Given the description of an element on the screen output the (x, y) to click on. 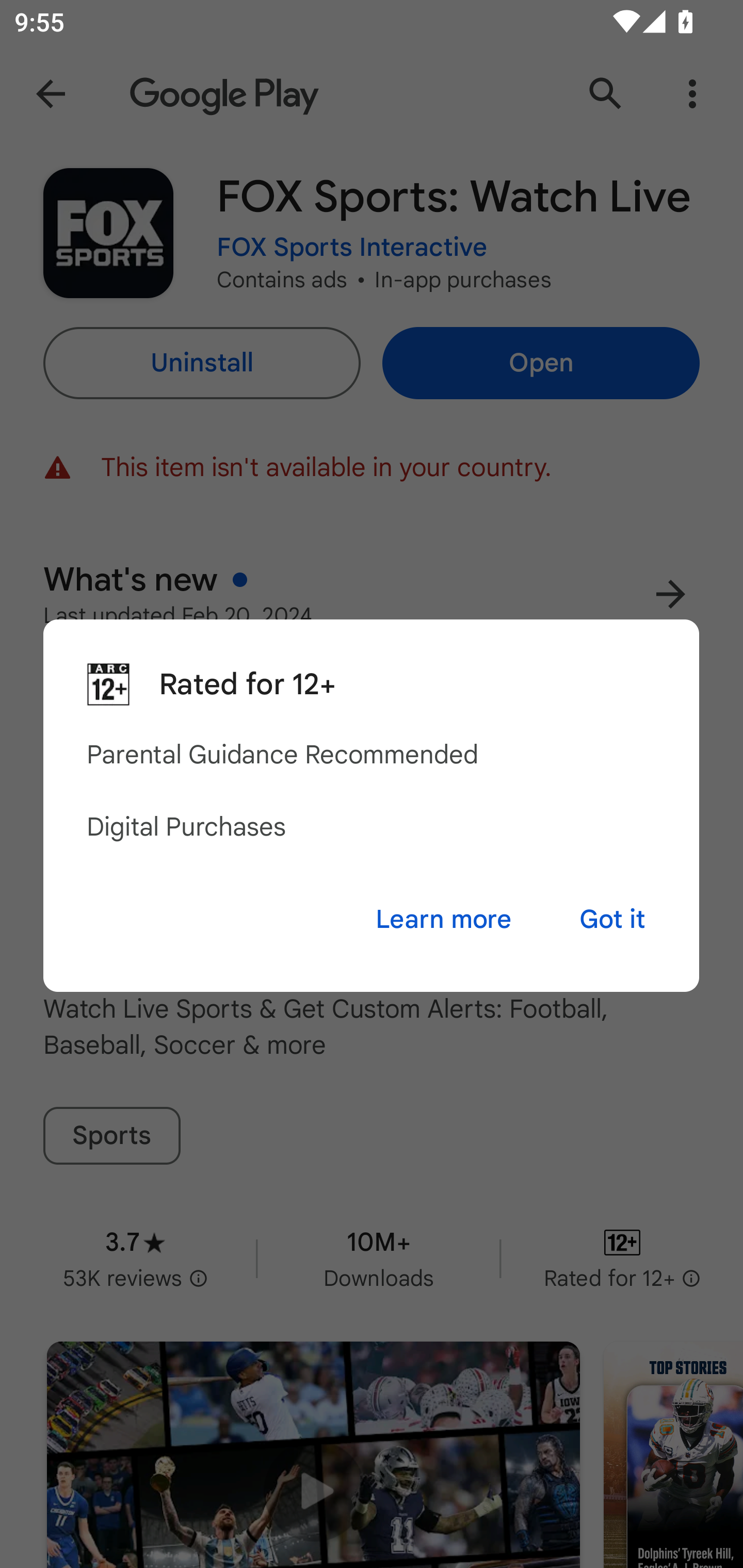
Learn more (443, 919)
Got it (612, 919)
